Given the description of an element on the screen output the (x, y) to click on. 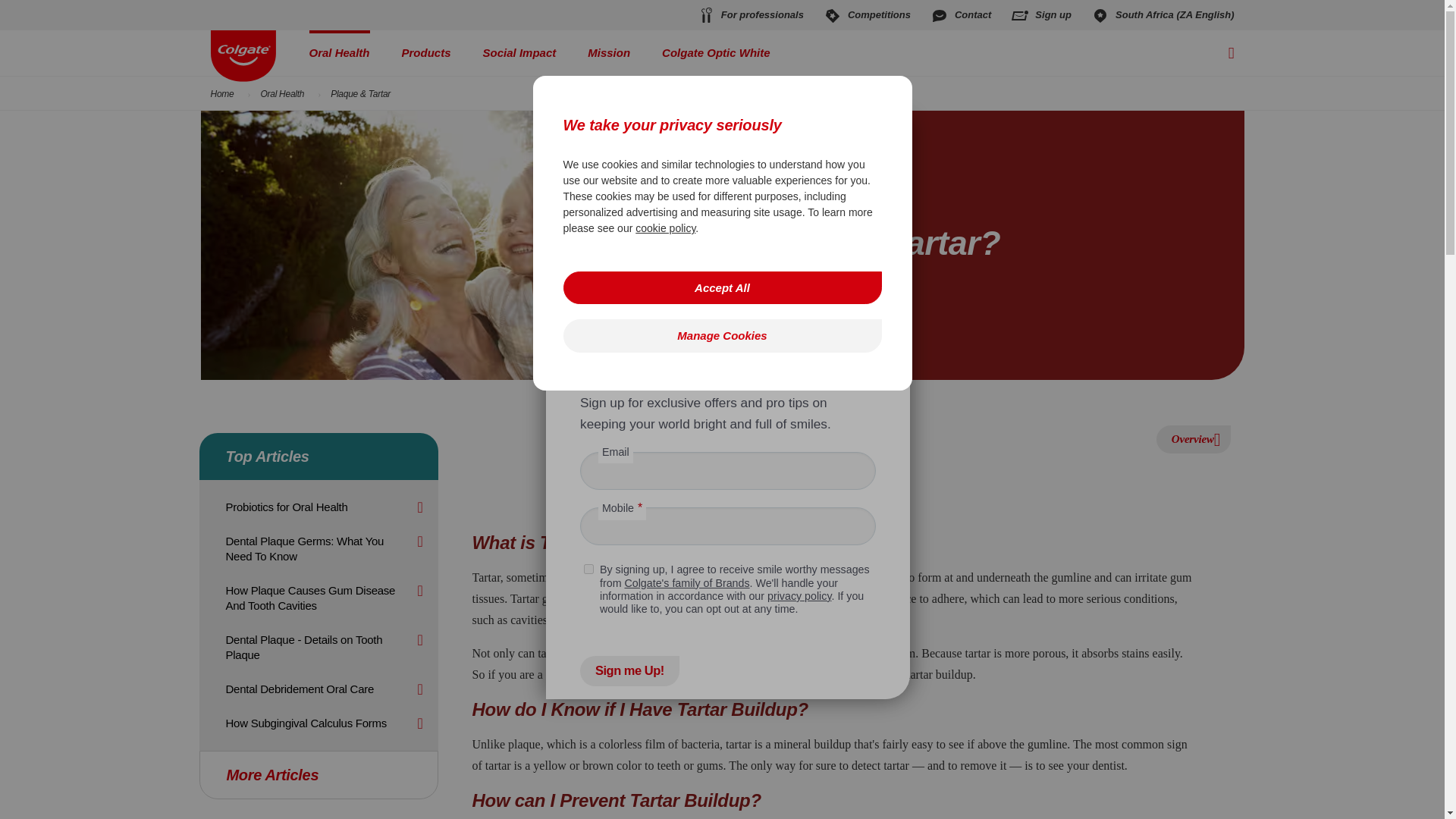
Colgate's family of Brands (686, 582)
Sign up (1040, 14)
home (243, 55)
Grandmother and granddaughter laughing (439, 245)
Sign me Up! (629, 671)
Competitions (867, 14)
Colgate (592, 141)
Contact (960, 14)
For professionals (750, 15)
Sign me Up! (629, 671)
on (588, 569)
privacy policy (799, 595)
